Given the description of an element on the screen output the (x, y) to click on. 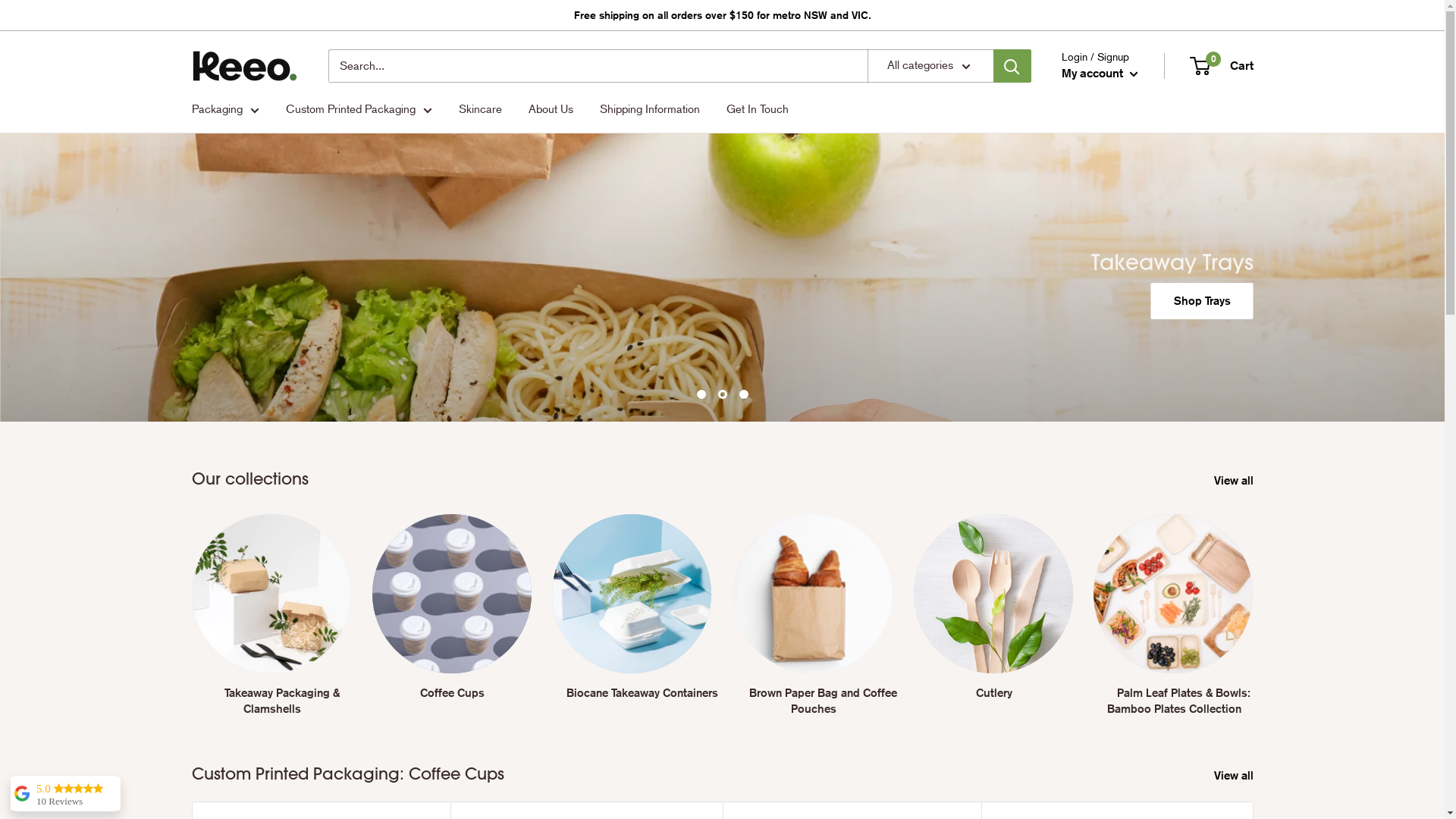
Get In Touch Element type: text (757, 108)
Skincare Element type: text (479, 108)
Palm Leaf Plates & Bowls: Bamboo Plates Collection Element type: text (1172, 615)
0
Cart Element type: text (1221, 65)
View all Element type: text (1242, 775)
Brown Paper Bag and Coffee Pouches Element type: text (811, 615)
Packaging Element type: text (224, 108)
Custom Printed Packaging Element type: text (358, 108)
Shop Here Element type: text (1202, 300)
View all Element type: text (1242, 480)
Biocane Takeaway Containers Element type: text (631, 615)
My account Element type: text (1099, 73)
About Us Element type: text (549, 108)
Coffee Cups Element type: text (451, 607)
Takeaway Packaging & Clamshells Element type: text (270, 615)
Cutlery Element type: text (993, 607)
Shipping Information Element type: text (649, 108)
